Given the description of an element on the screen output the (x, y) to click on. 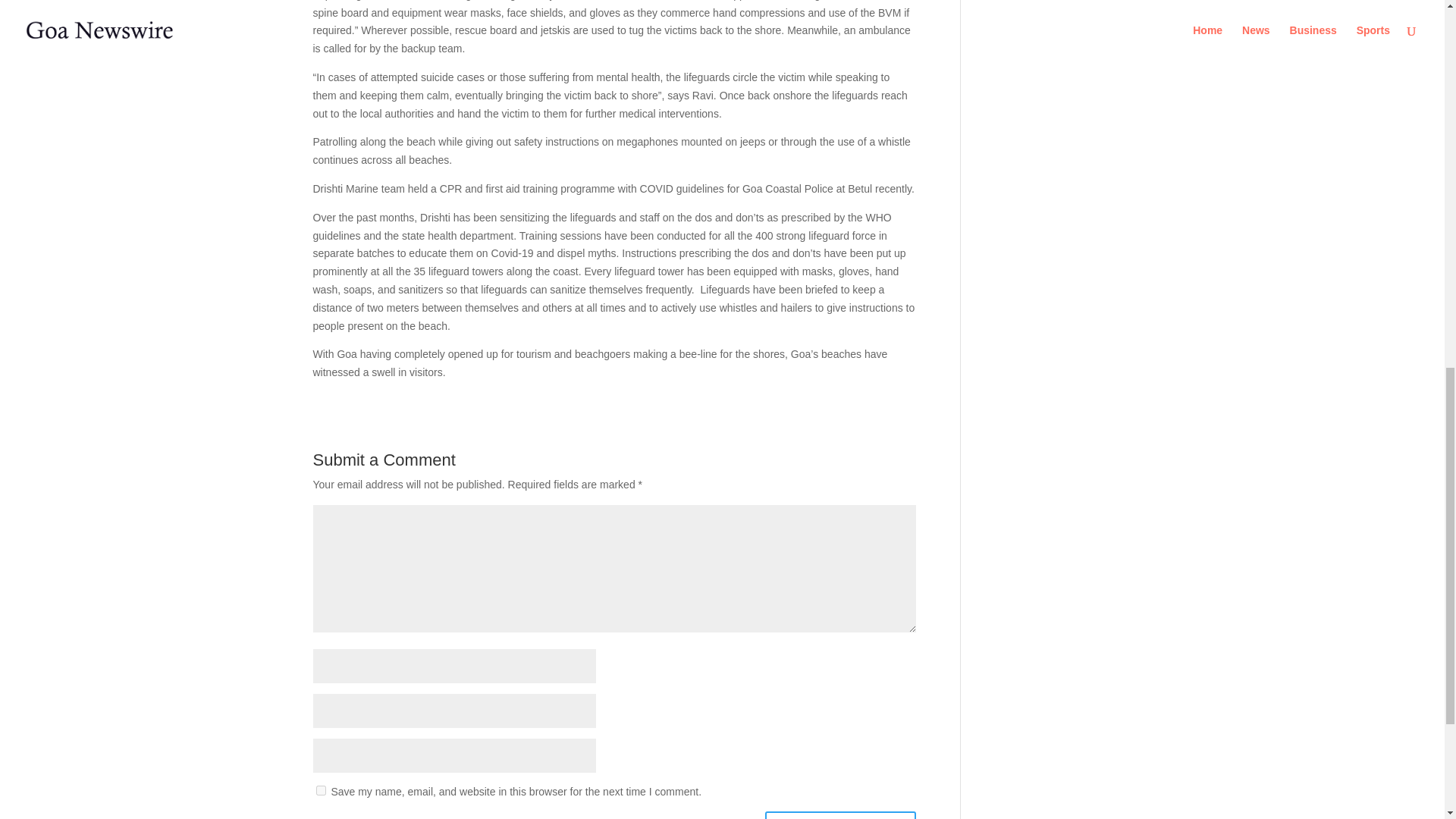
Submit Comment (840, 815)
Submit Comment (840, 815)
yes (319, 790)
